Given the description of an element on the screen output the (x, y) to click on. 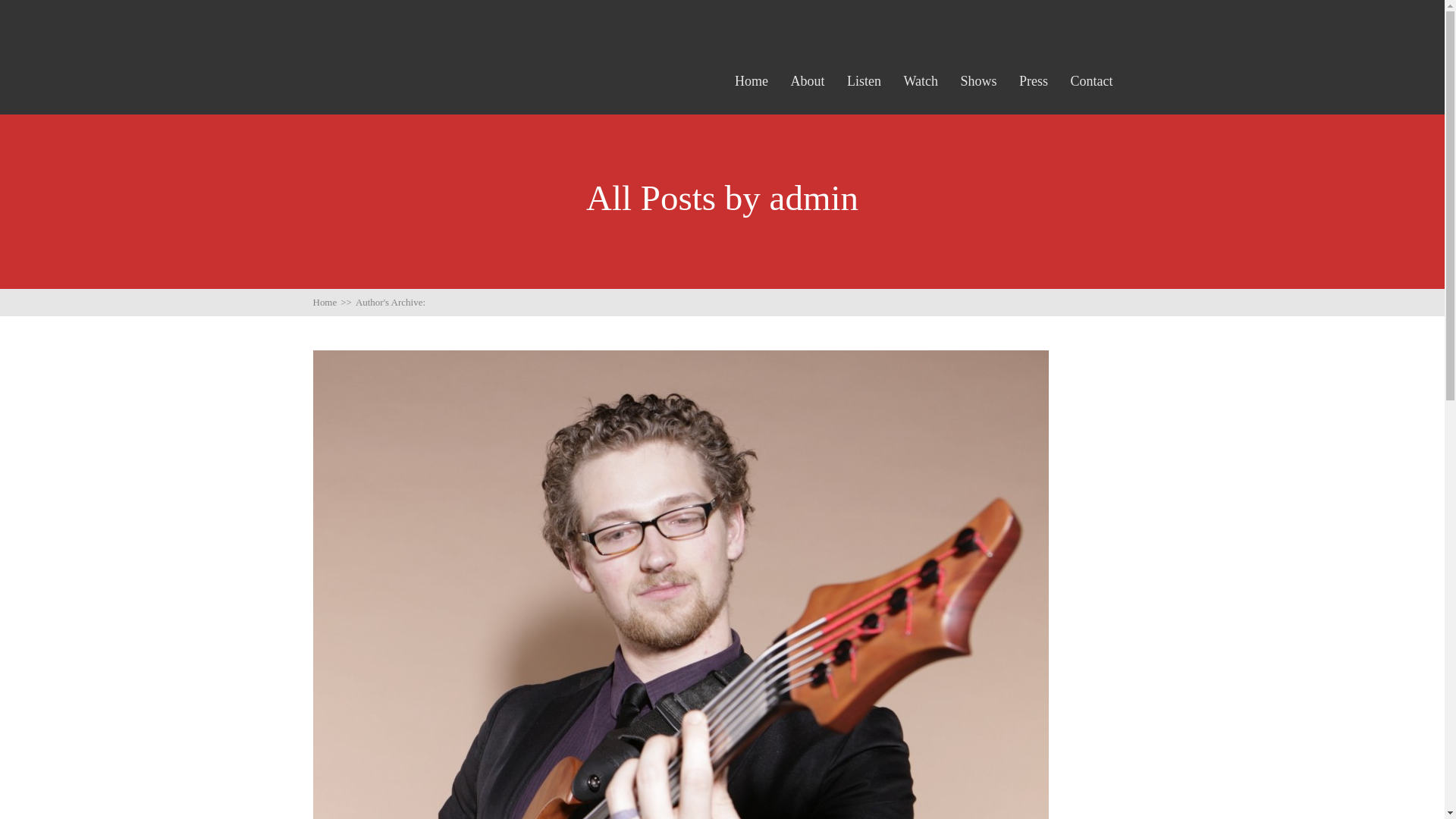
Watch (919, 81)
Home (751, 81)
Contact (1091, 81)
About (807, 81)
Press (1033, 81)
Shows (977, 81)
Listen (863, 81)
admin (814, 197)
